Given the description of an element on the screen output the (x, y) to click on. 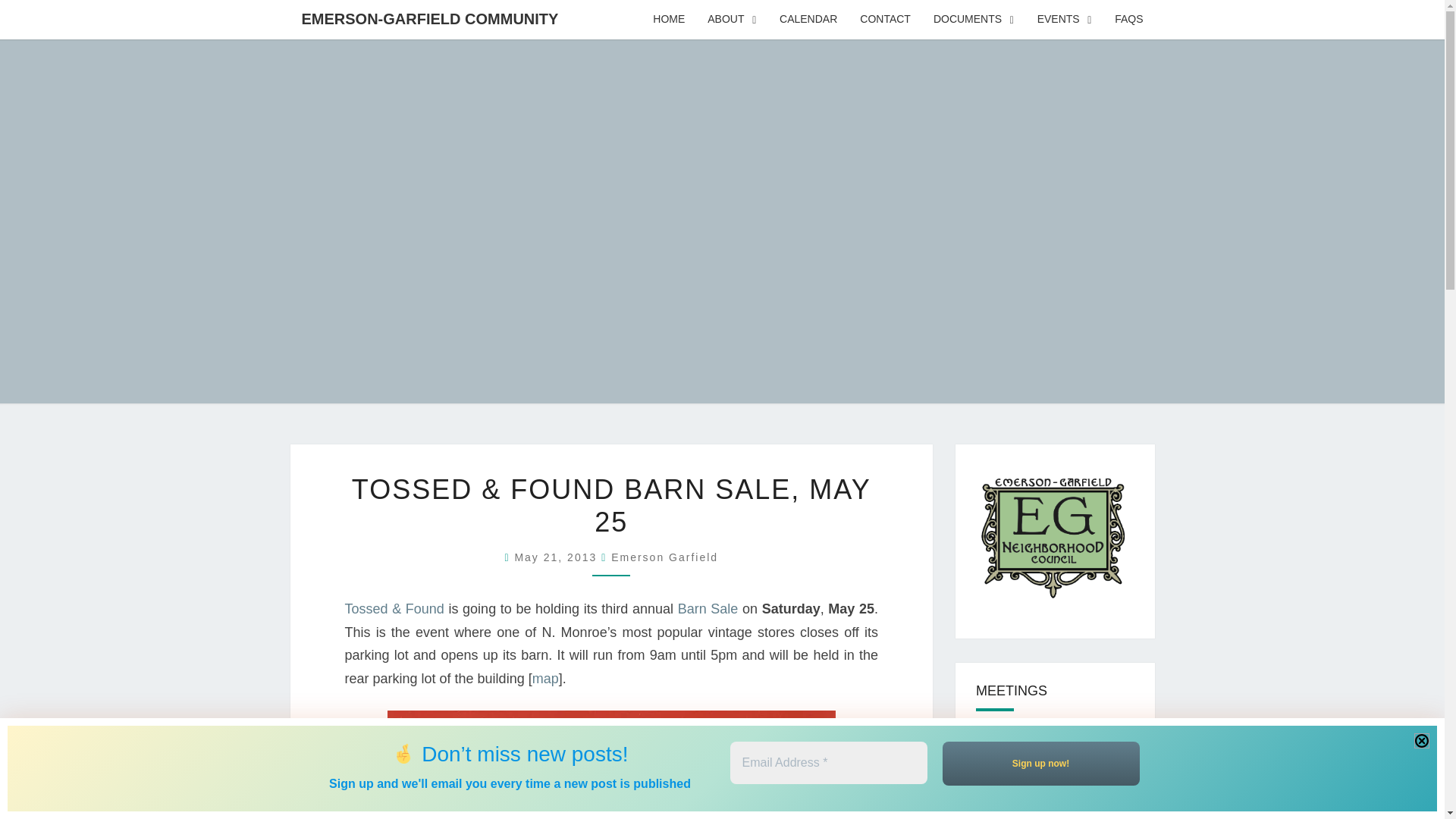
CALENDAR (808, 19)
Barn Sale (708, 608)
EVENTS (1064, 19)
Sign up now! (1040, 763)
Email Address (827, 762)
map (545, 678)
FAQS (1128, 19)
EMERSON-GARFIELD COMMUNITY (429, 18)
ABOUT (731, 19)
2:00 pm (557, 557)
CONTACT (884, 19)
DOCUMENTS (973, 19)
May 21, 2013 (557, 557)
HOME (668, 19)
Sign up now! (1040, 763)
